Given the description of an element on the screen output the (x, y) to click on. 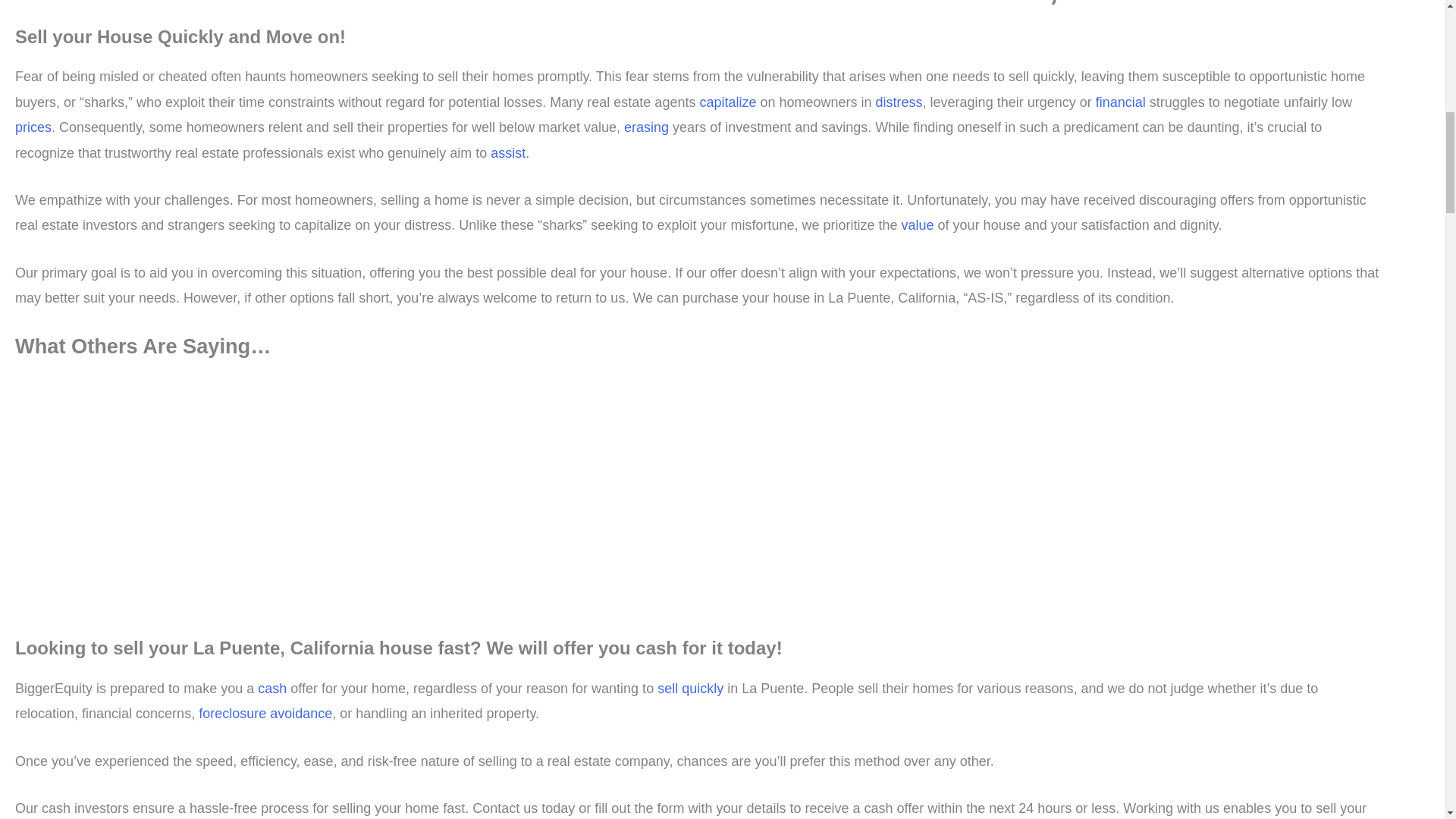
foreclosure avoidance (264, 713)
capitalize (726, 102)
prices (32, 127)
financial (1120, 102)
cash (271, 688)
sell quickly (690, 688)
value (917, 224)
distress (899, 102)
assist (507, 152)
erasing (646, 127)
